Given the description of an element on the screen output the (x, y) to click on. 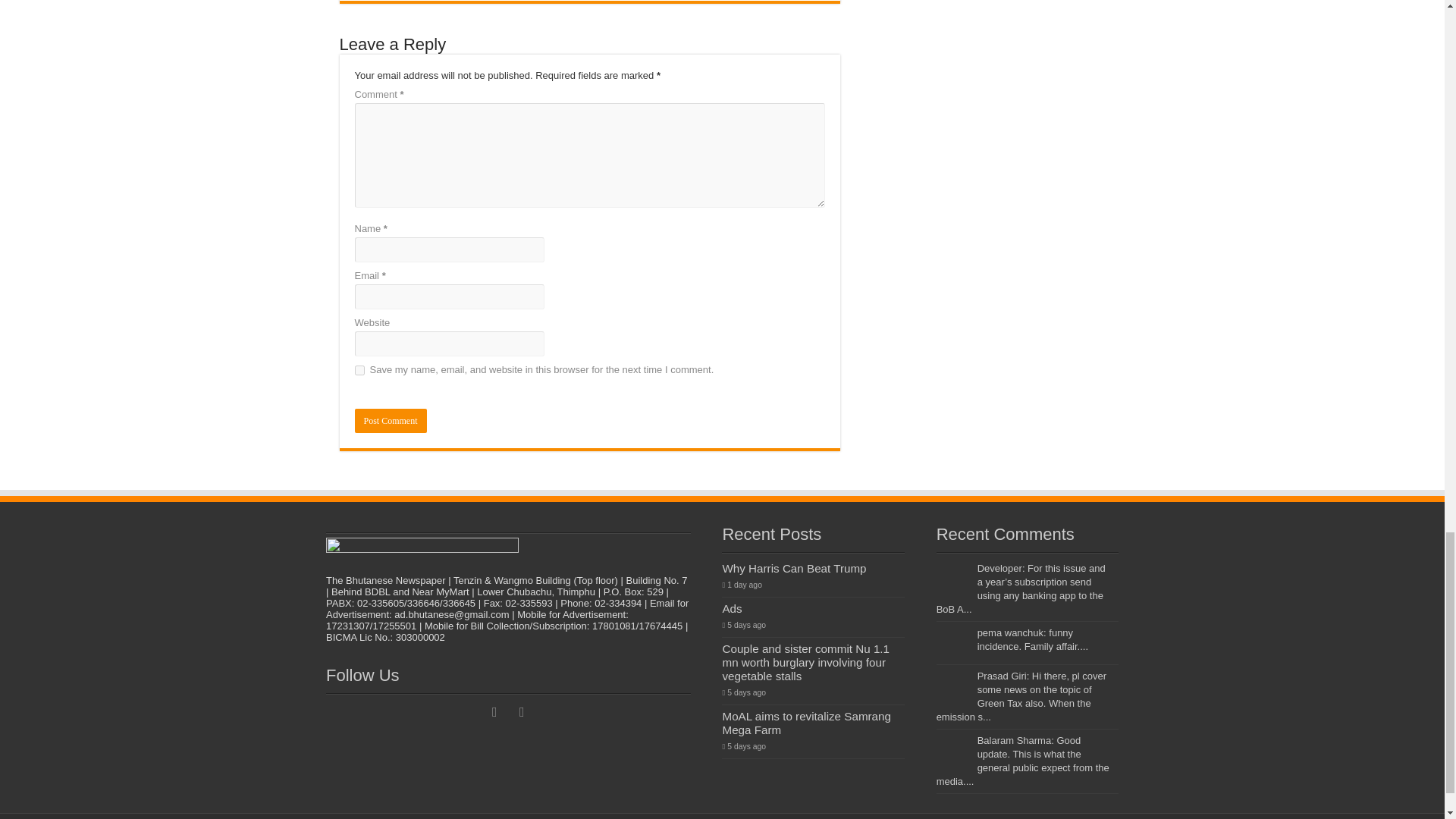
yes (360, 370)
Post Comment (390, 420)
